Given the description of an element on the screen output the (x, y) to click on. 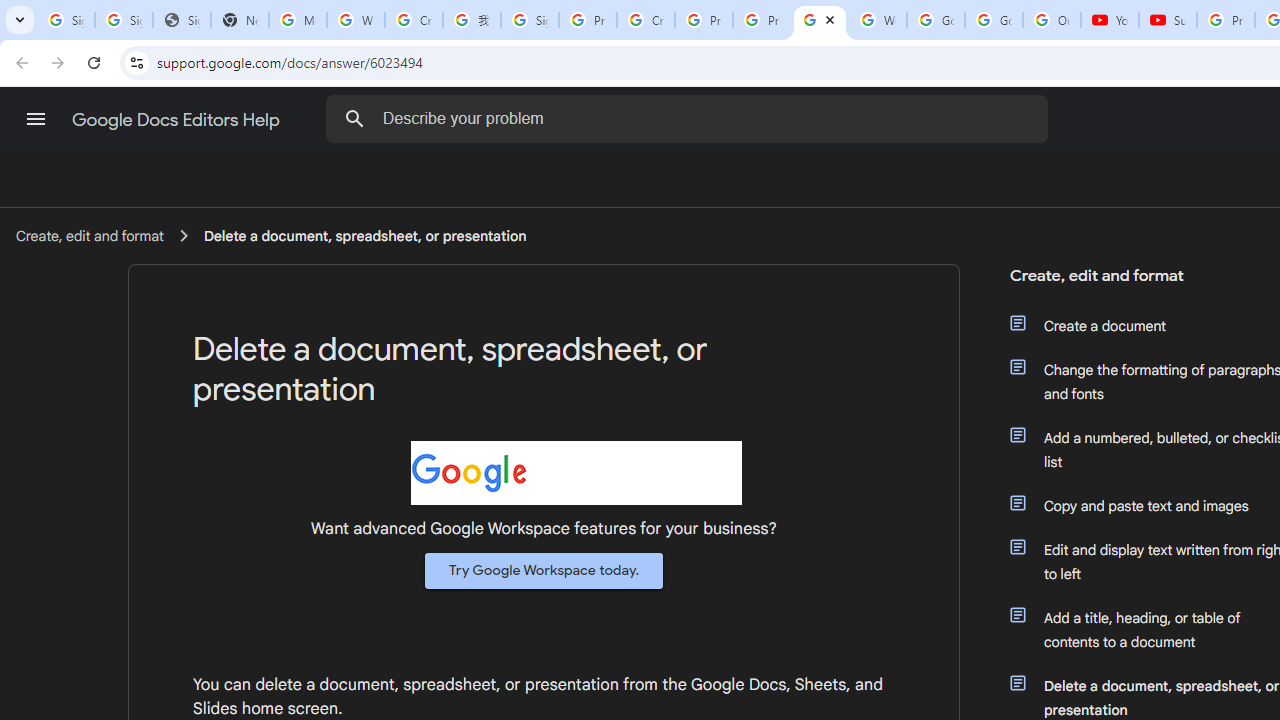
Google Account (993, 20)
YouTube (1110, 20)
Try Google Workspace today. (543, 570)
Sign in - Google Accounts (123, 20)
Sign In - USA TODAY (181, 20)
Google Docs Editors Help (177, 119)
